Given the description of an element on the screen output the (x, y) to click on. 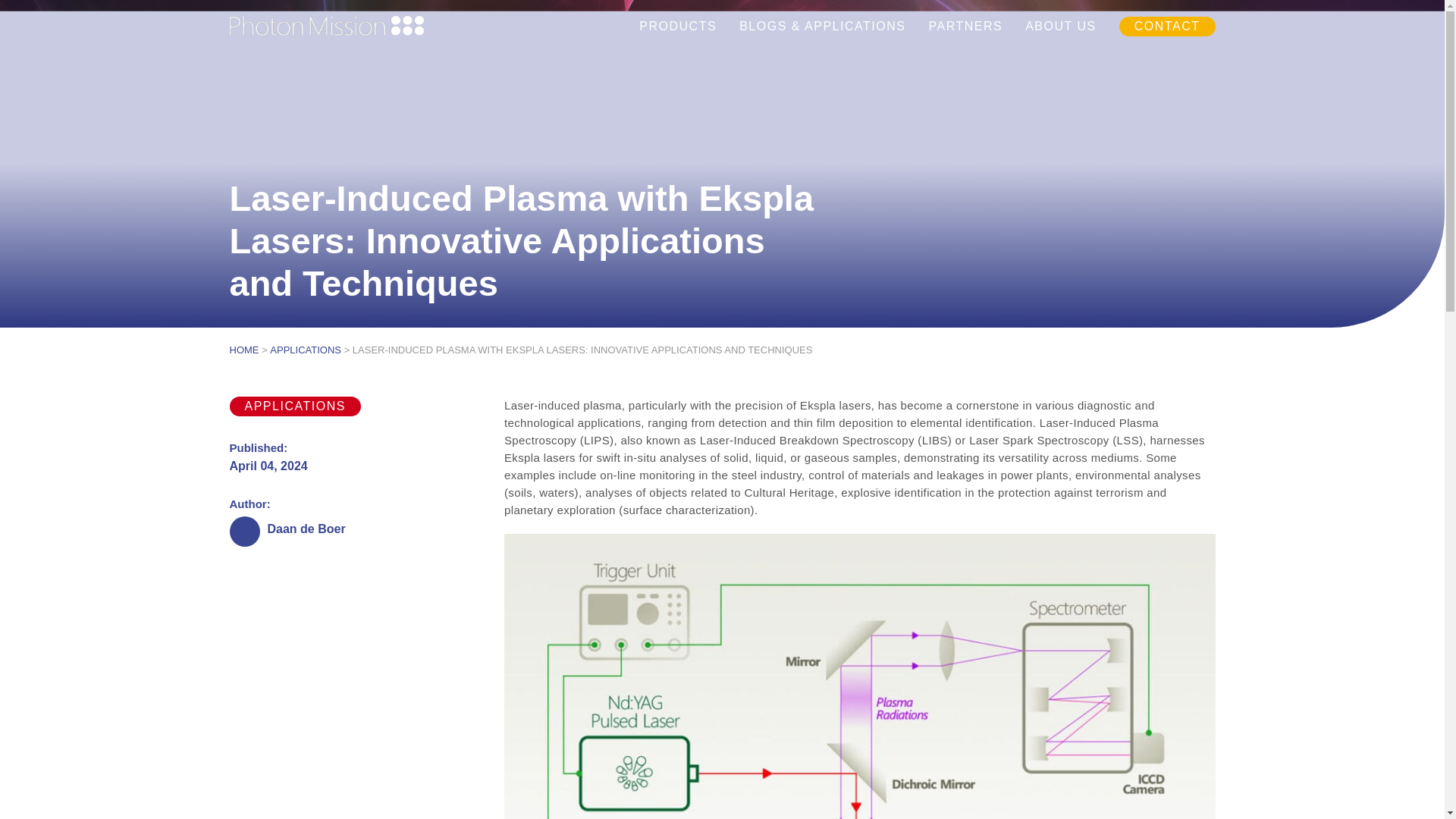
CONTACT (1166, 26)
PARTNERS (965, 26)
HOME (243, 350)
ABOUT US (1060, 26)
APPLICATIONS (304, 350)
APPLICATIONS (293, 405)
PRODUCTS (677, 26)
